Given the description of an element on the screen output the (x, y) to click on. 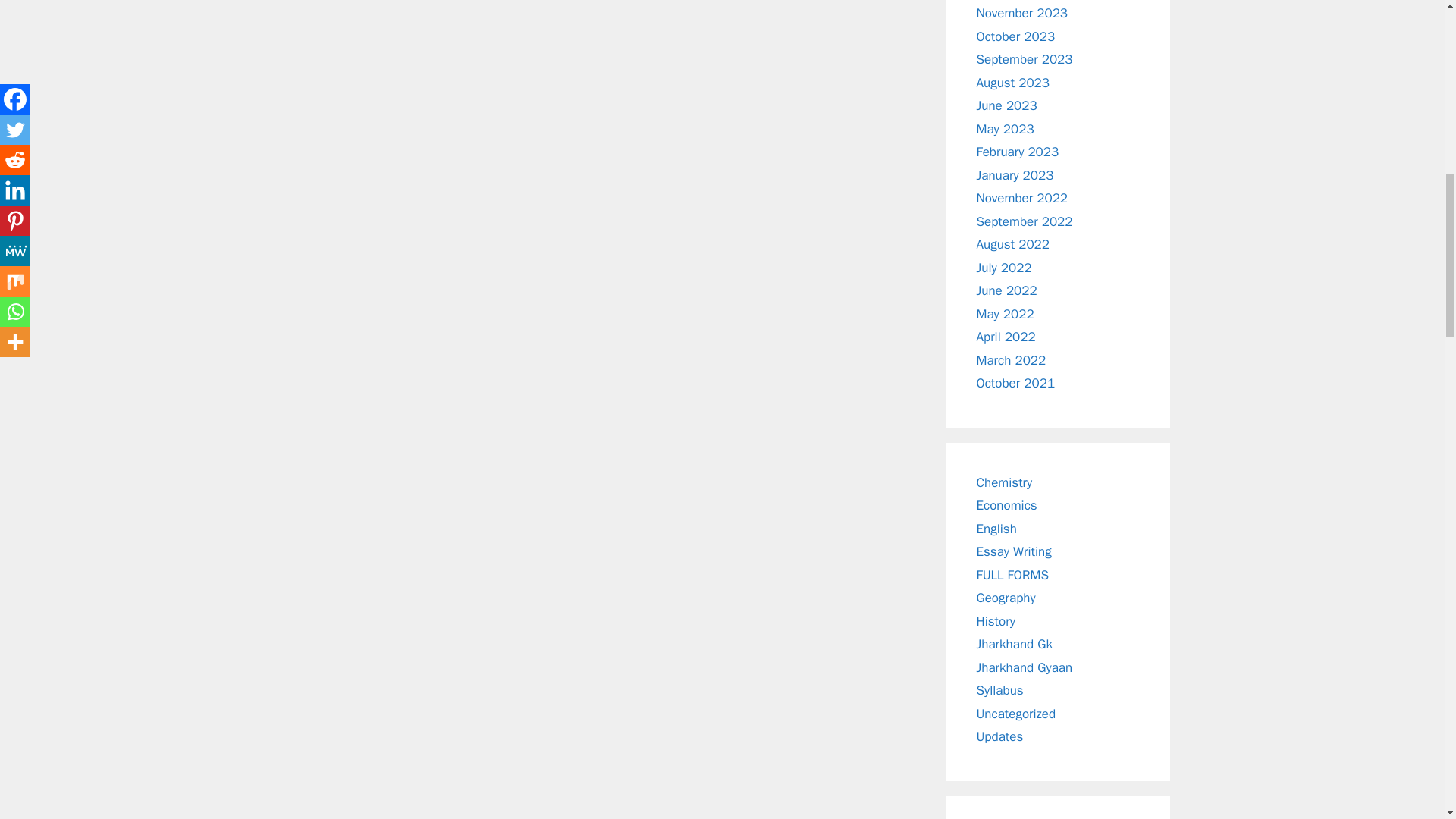
September 2023 (1024, 59)
May 2023 (1004, 129)
November 2023 (1022, 12)
February 2023 (1017, 151)
August 2023 (1012, 82)
January 2023 (1015, 175)
June 2023 (1006, 105)
October 2023 (1015, 36)
